Given the description of an element on the screen output the (x, y) to click on. 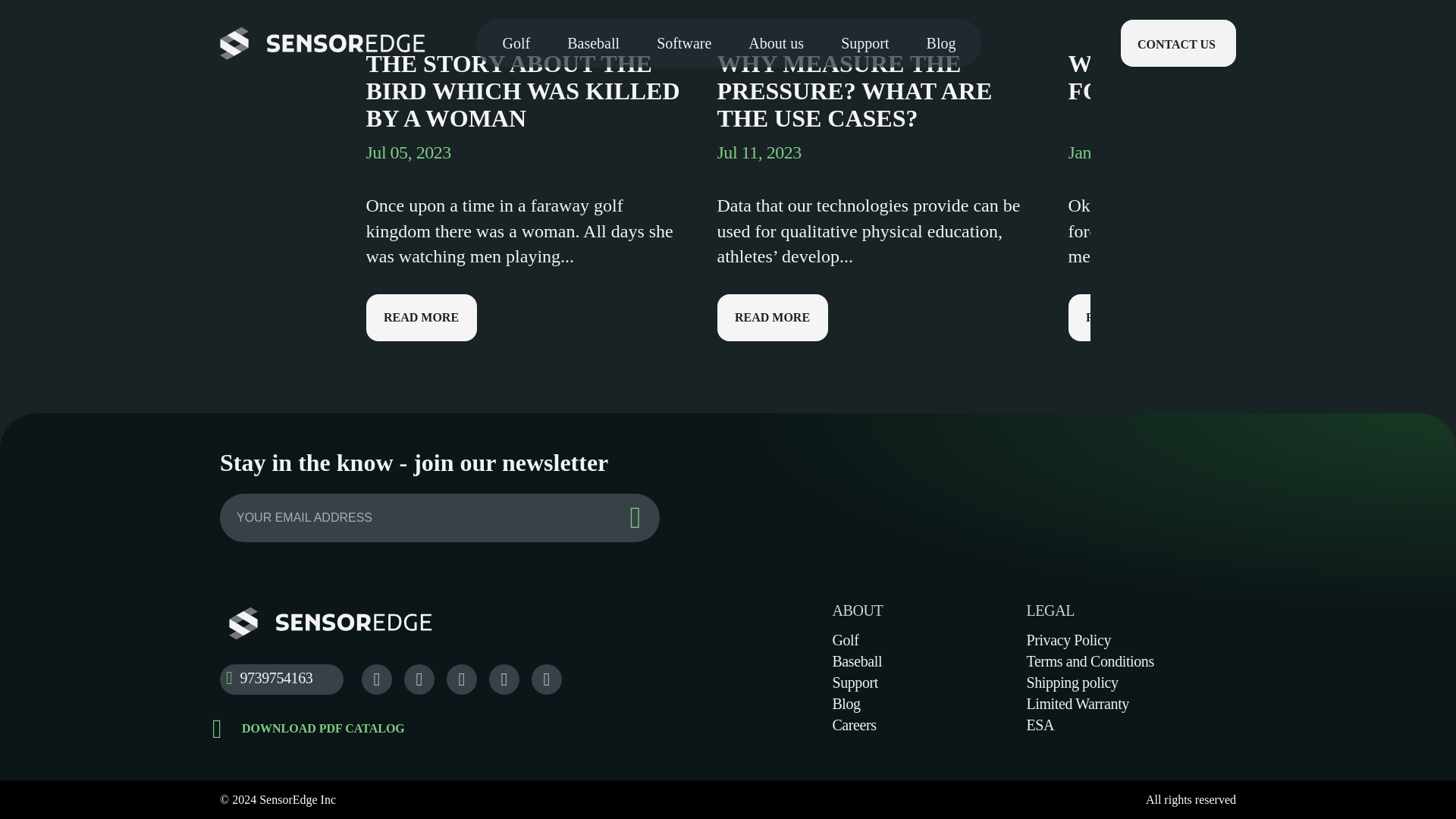
Terms and Conditions (1089, 660)
READ MORE (1122, 317)
ESA (1040, 724)
READ MORE (772, 317)
Support (854, 682)
Shipping policy (1072, 682)
Careers (853, 724)
READ MORE (420, 317)
Baseball (856, 660)
Blog (845, 703)
Golf (845, 639)
DOWNLOAD PDF CATALOG (524, 728)
Limited Warranty (1077, 703)
Privacy Policy (1068, 639)
